Given the description of an element on the screen output the (x, y) to click on. 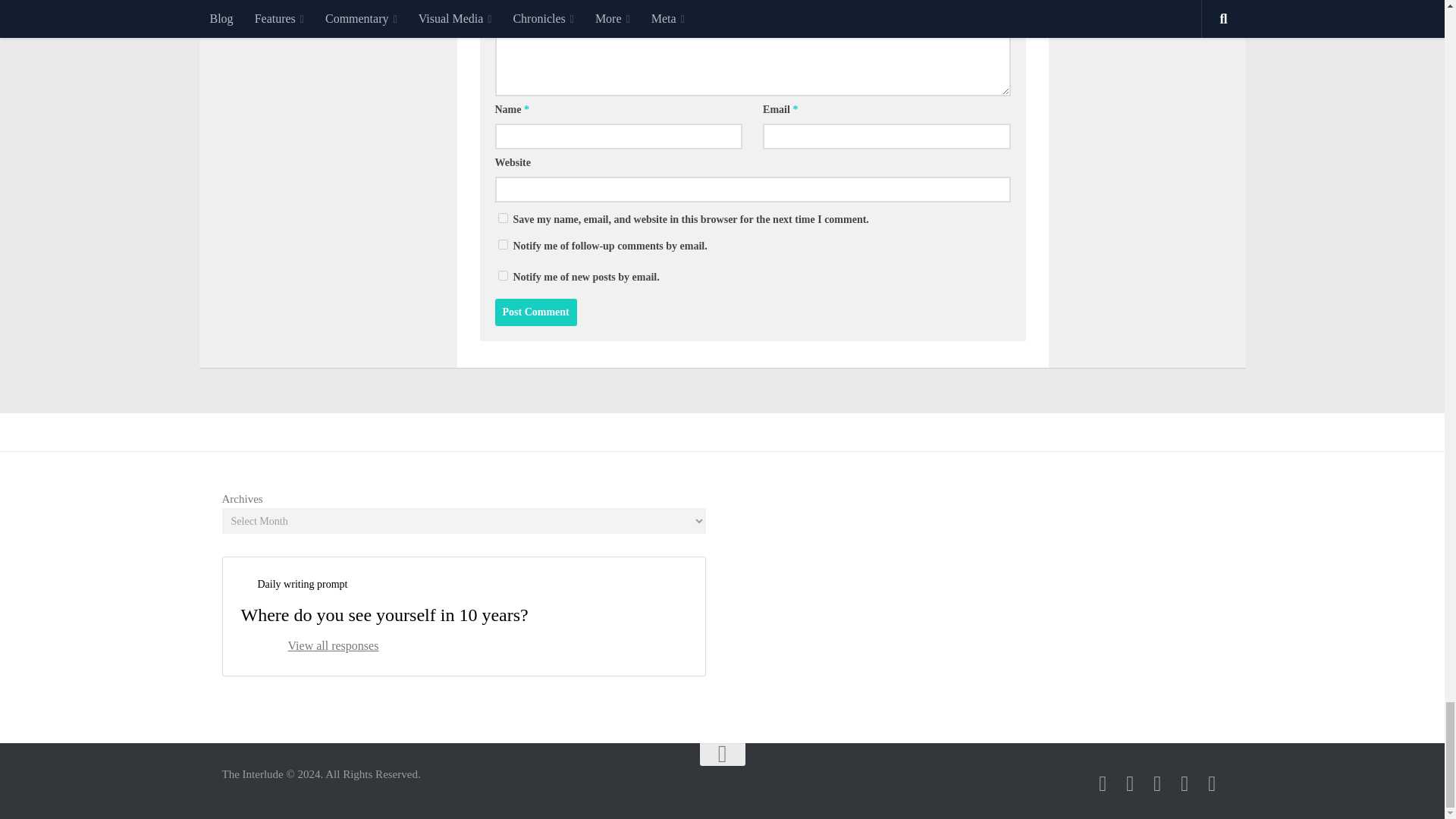
yes (501, 217)
Post Comment (535, 311)
subscribe (501, 275)
subscribe (501, 244)
